Given the description of an element on the screen output the (x, y) to click on. 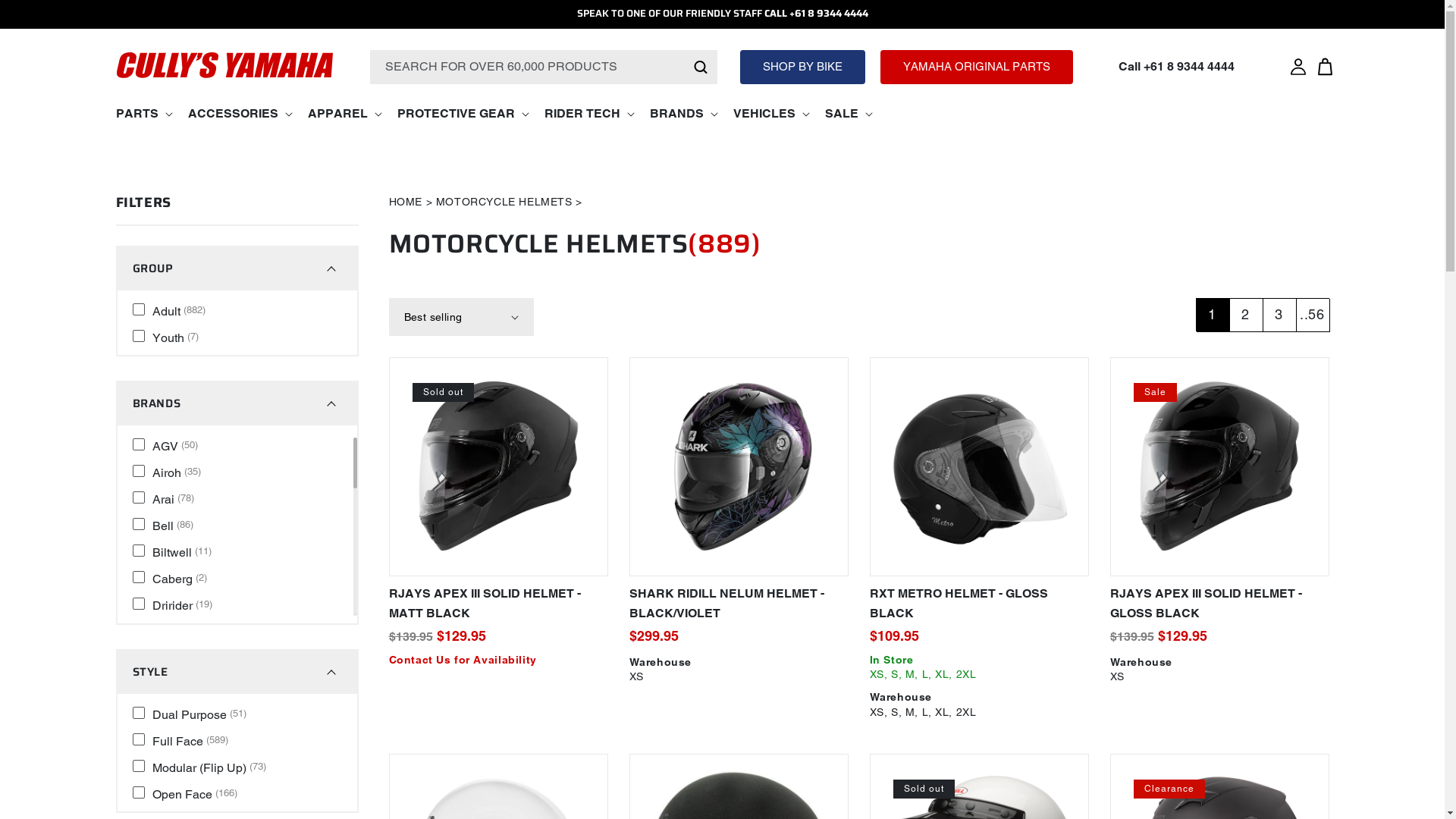
SHARK RIDILL NELUM HELMET - BLACK/VIOLET Element type: text (738, 603)
2 Element type: text (1244, 314)
+61 8 9344 4444 Element type: text (1188, 66)
1 Element type: text (1211, 314)
3 Element type: text (1278, 314)
+61 8 9344 4444 Element type: text (827, 13)
Log in Element type: text (1297, 66)
YAMAHA ORIGINAL PARTS Element type: text (976, 67)
RJAYS APEX III SOLID HELMET - MATT BLACK Element type: text (497, 603)
SHOP BY BIKE Element type: text (802, 67)
HOME Element type: text (404, 201)
..56 Element type: text (1311, 314)
RXT METRO HELMET - GLOSS BLACK Element type: text (978, 603)
Cart Element type: text (1324, 66)
RJAYS APEX III SOLID HELMET - GLOSS BLACK Element type: text (1219, 603)
